Given the description of an element on the screen output the (x, y) to click on. 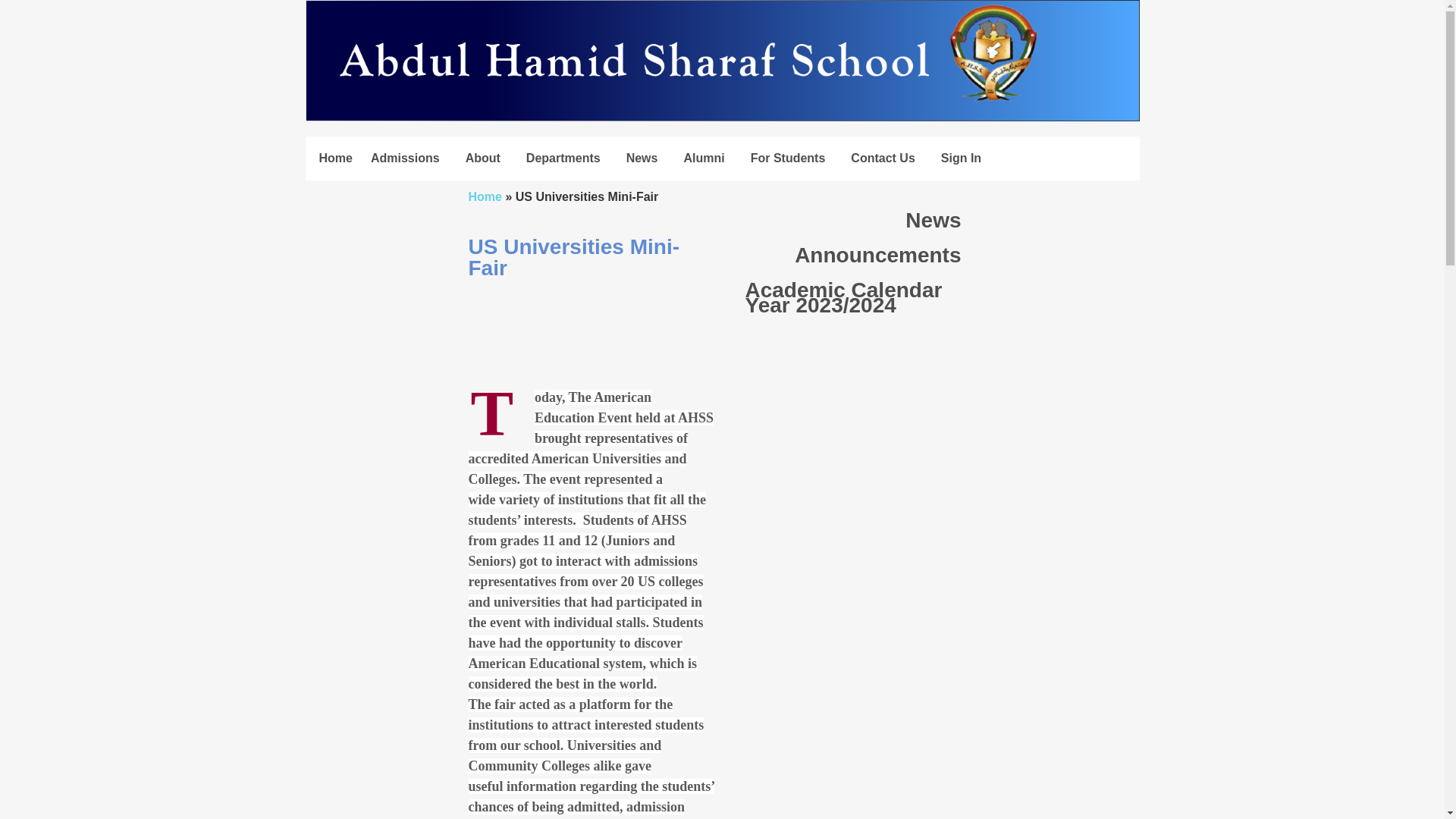
News (645, 158)
About (486, 158)
Departments (566, 158)
Home (336, 158)
Alumni (707, 158)
For Students (791, 158)
Admissions (408, 158)
